Given the description of an element on the screen output the (x, y) to click on. 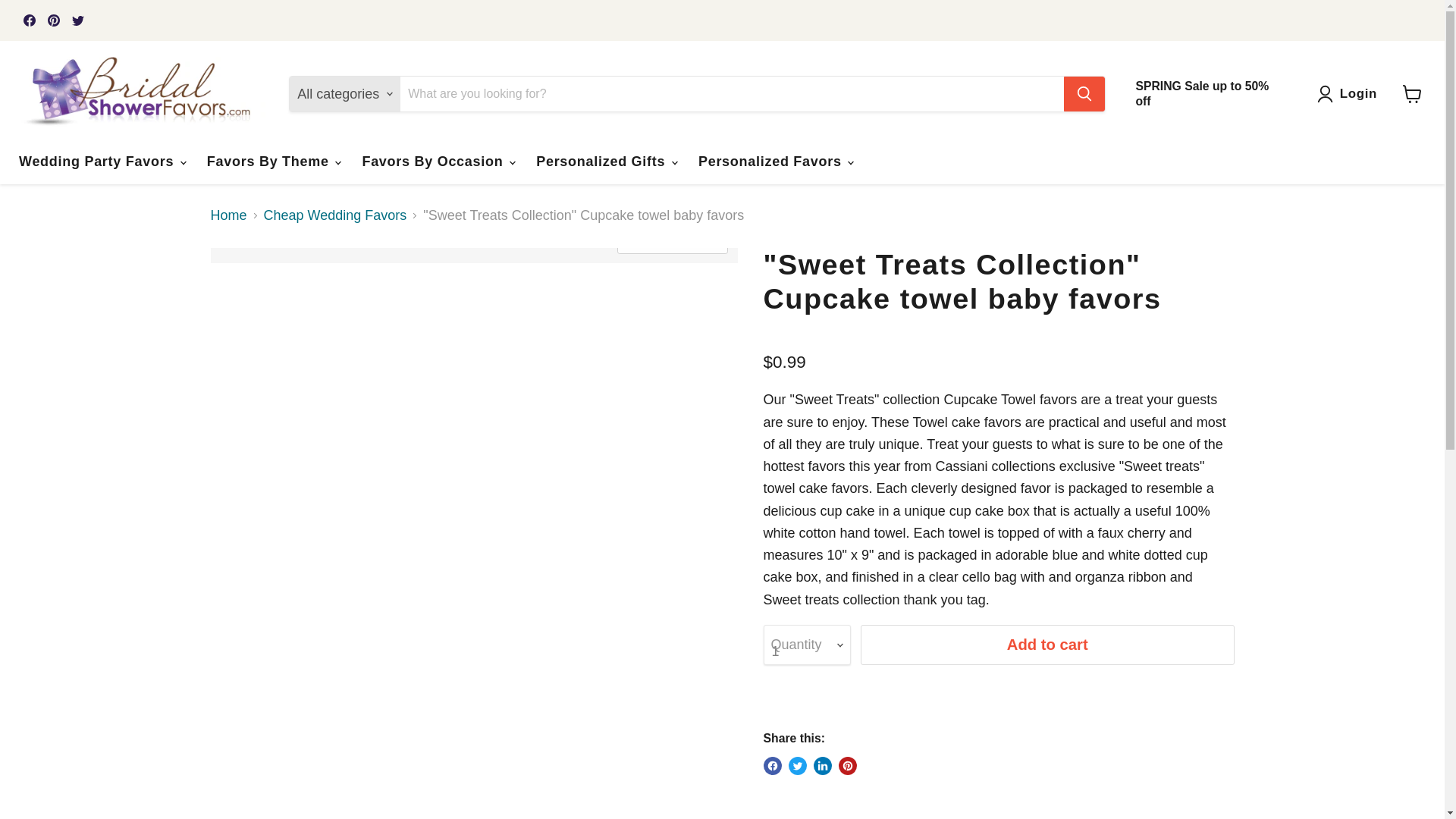
Twitter (77, 20)
Find us on Pinterest (53, 20)
Find us on Facebook (29, 20)
Login (1358, 94)
Pinterest (53, 20)
Facebook (29, 20)
View cart (1411, 93)
Find us on Twitter (77, 20)
